Given the description of an element on the screen output the (x, y) to click on. 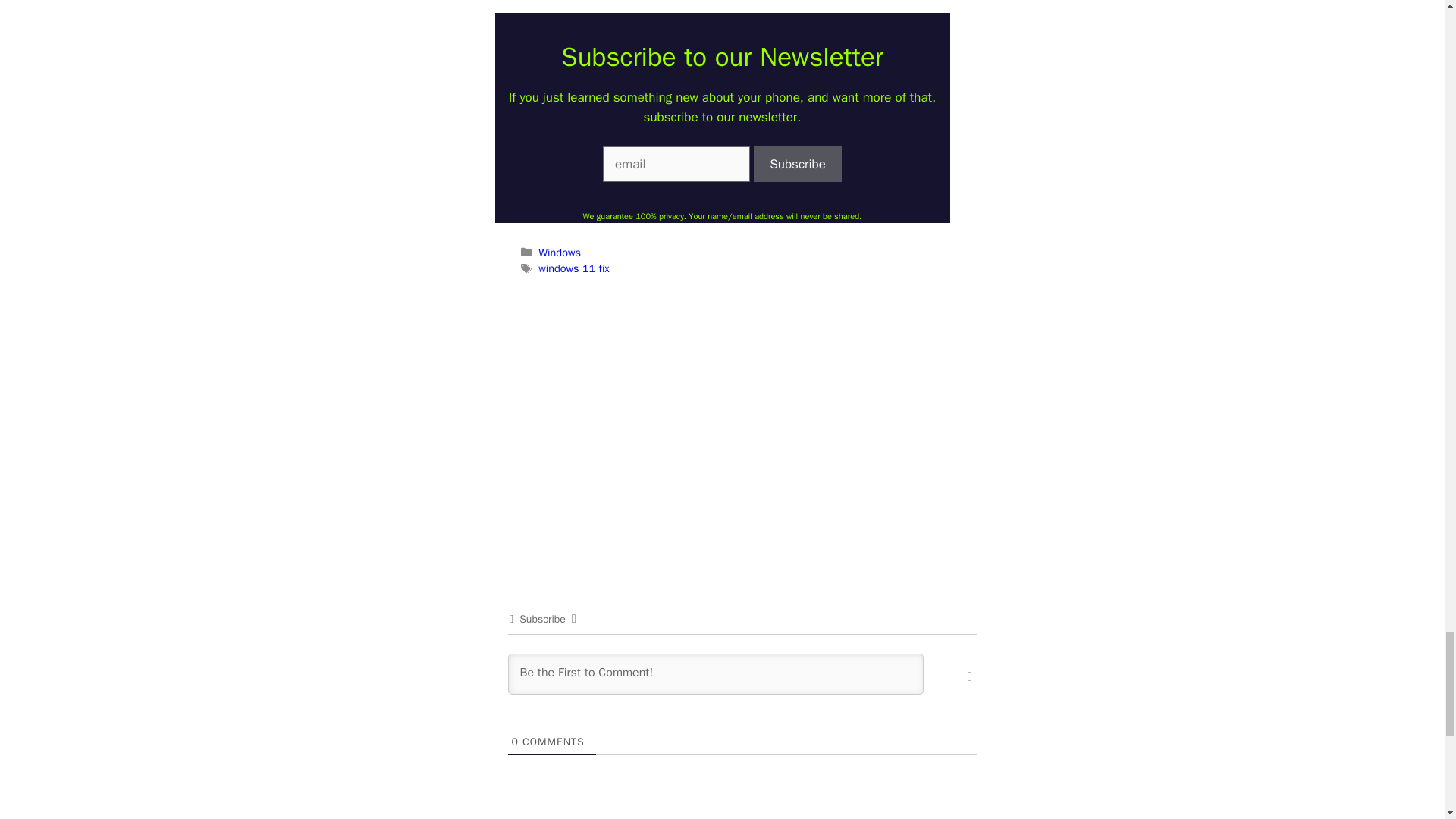
Windows (559, 252)
Subscribe (797, 164)
windows 11 fix (573, 268)
Subscribe (797, 164)
